Given the description of an element on the screen output the (x, y) to click on. 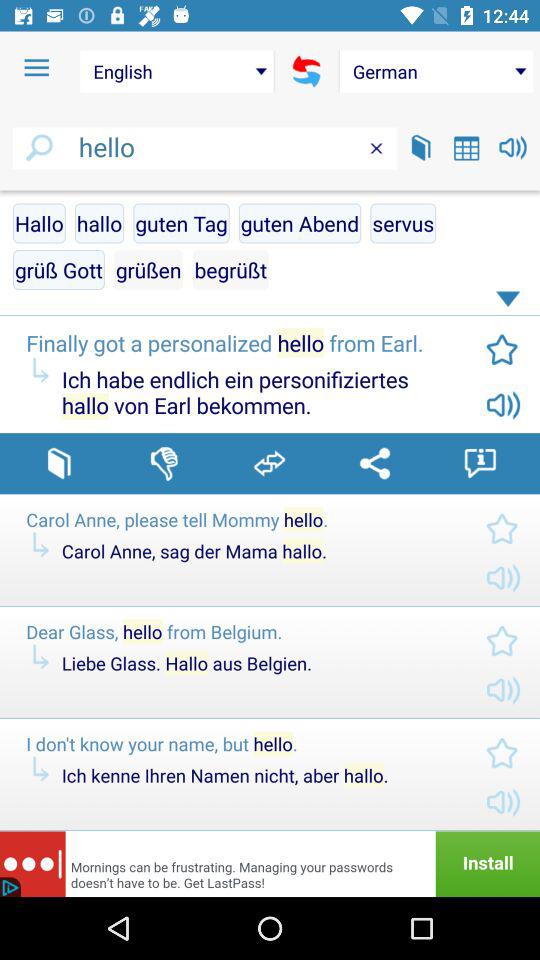
abrir mais opes (511, 303)
